Given the description of an element on the screen output the (x, y) to click on. 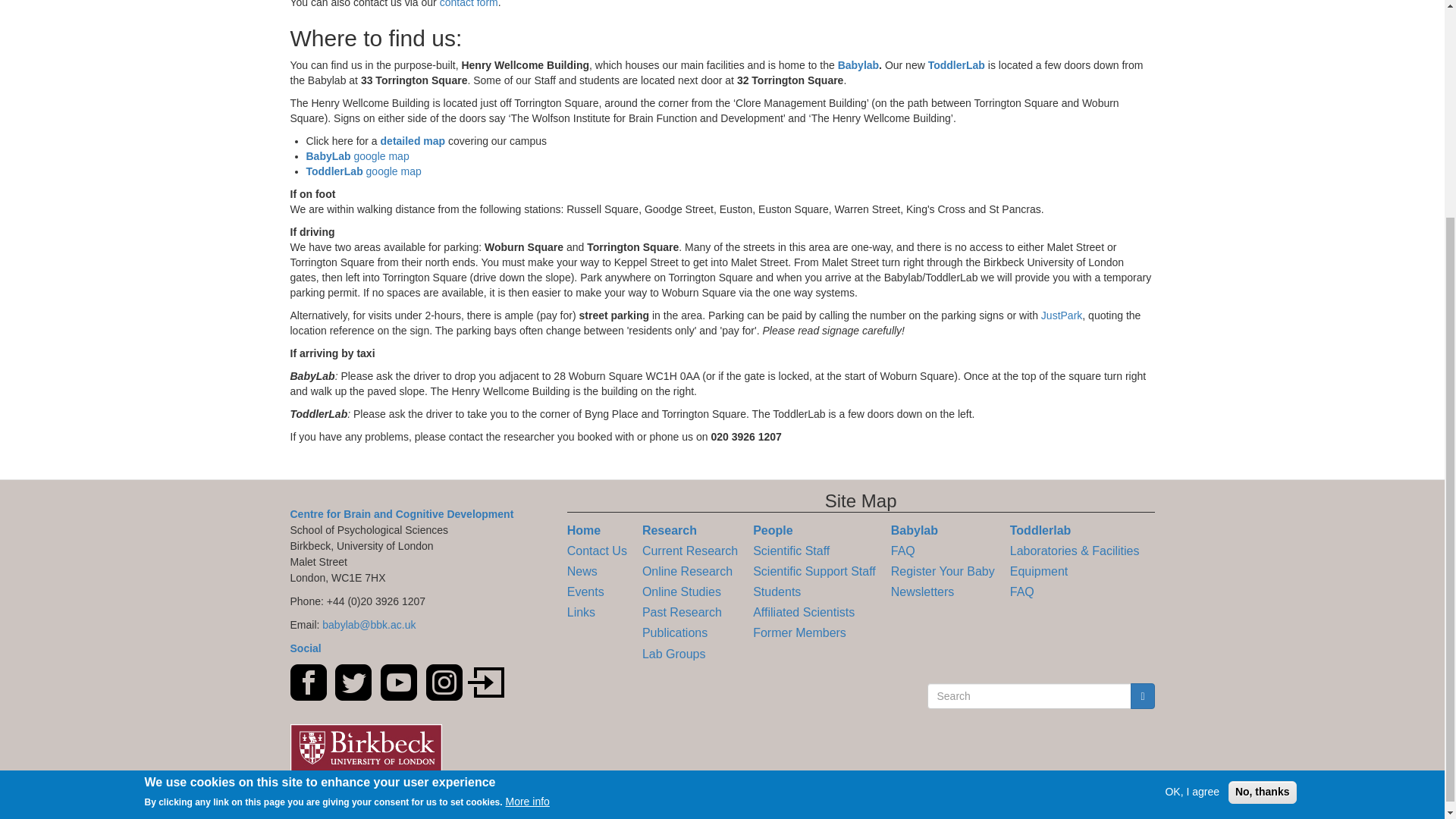
Babylab (858, 64)
ToddlerLab (956, 64)
Enter the terms you wish to search for. (1028, 696)
contact form (468, 4)
